Given the description of an element on the screen output the (x, y) to click on. 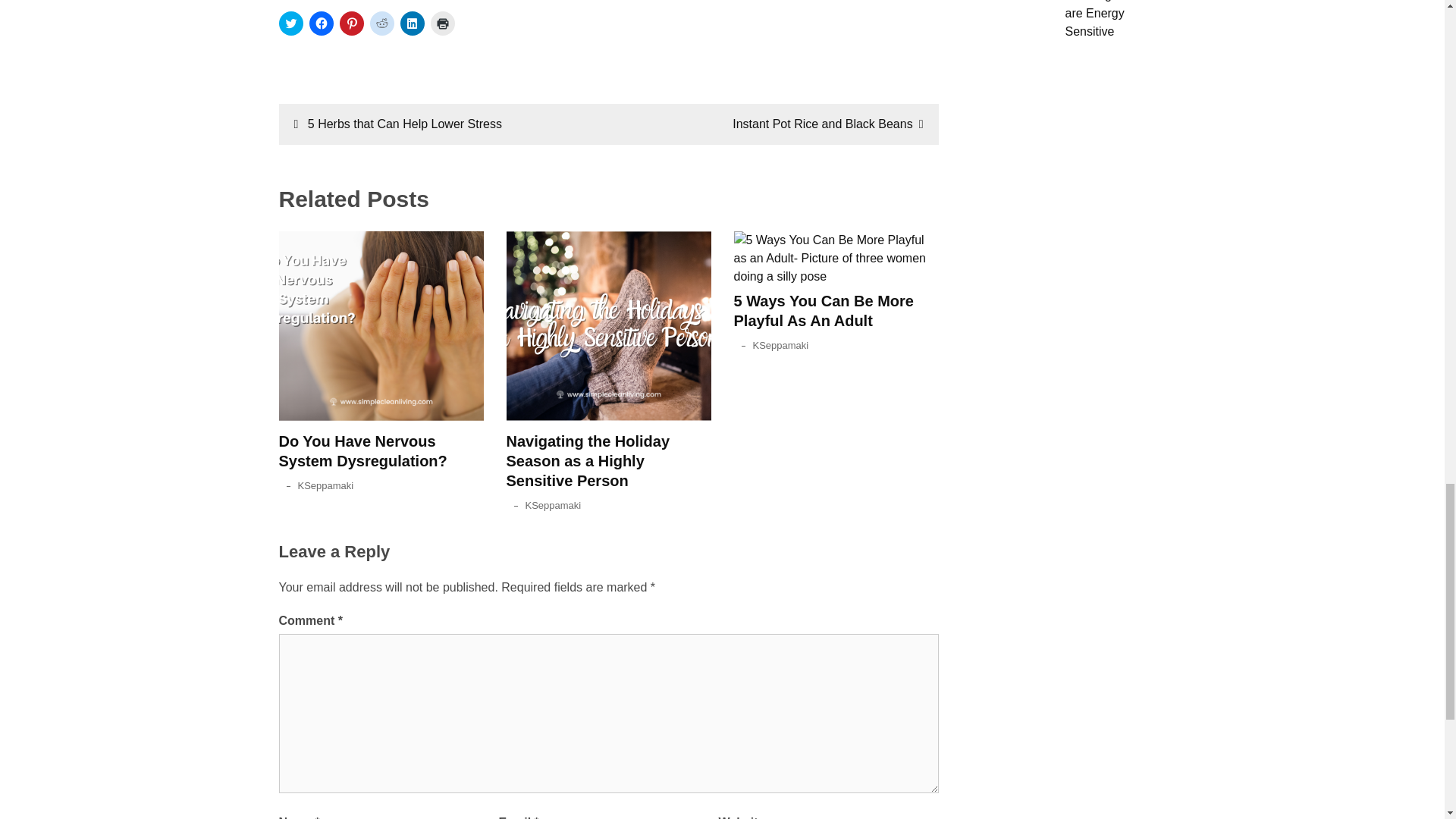
Click to share on Pinterest (351, 23)
Click to share on Twitter (290, 23)
Click to print (442, 23)
Click to share on LinkedIn (412, 23)
Click to share on Facebook (320, 23)
Click to share on Reddit (381, 23)
